Given the description of an element on the screen output the (x, y) to click on. 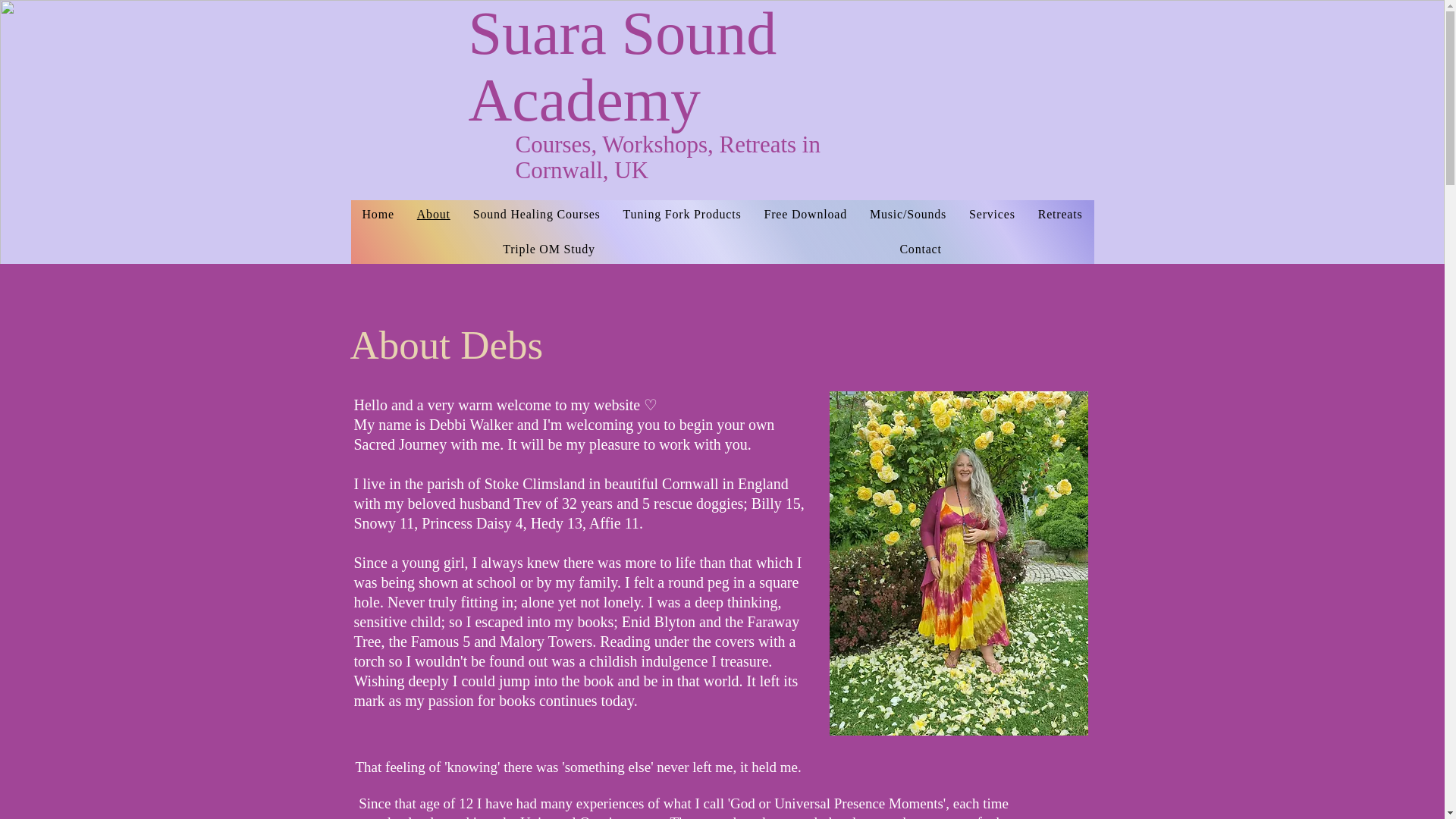
Free Download (804, 214)
Triple OM Study (548, 249)
Sound Healing Courses (536, 214)
Home (377, 214)
About (433, 214)
Contact (921, 249)
Tuning Fork Products (681, 214)
